Given the description of an element on the screen output the (x, y) to click on. 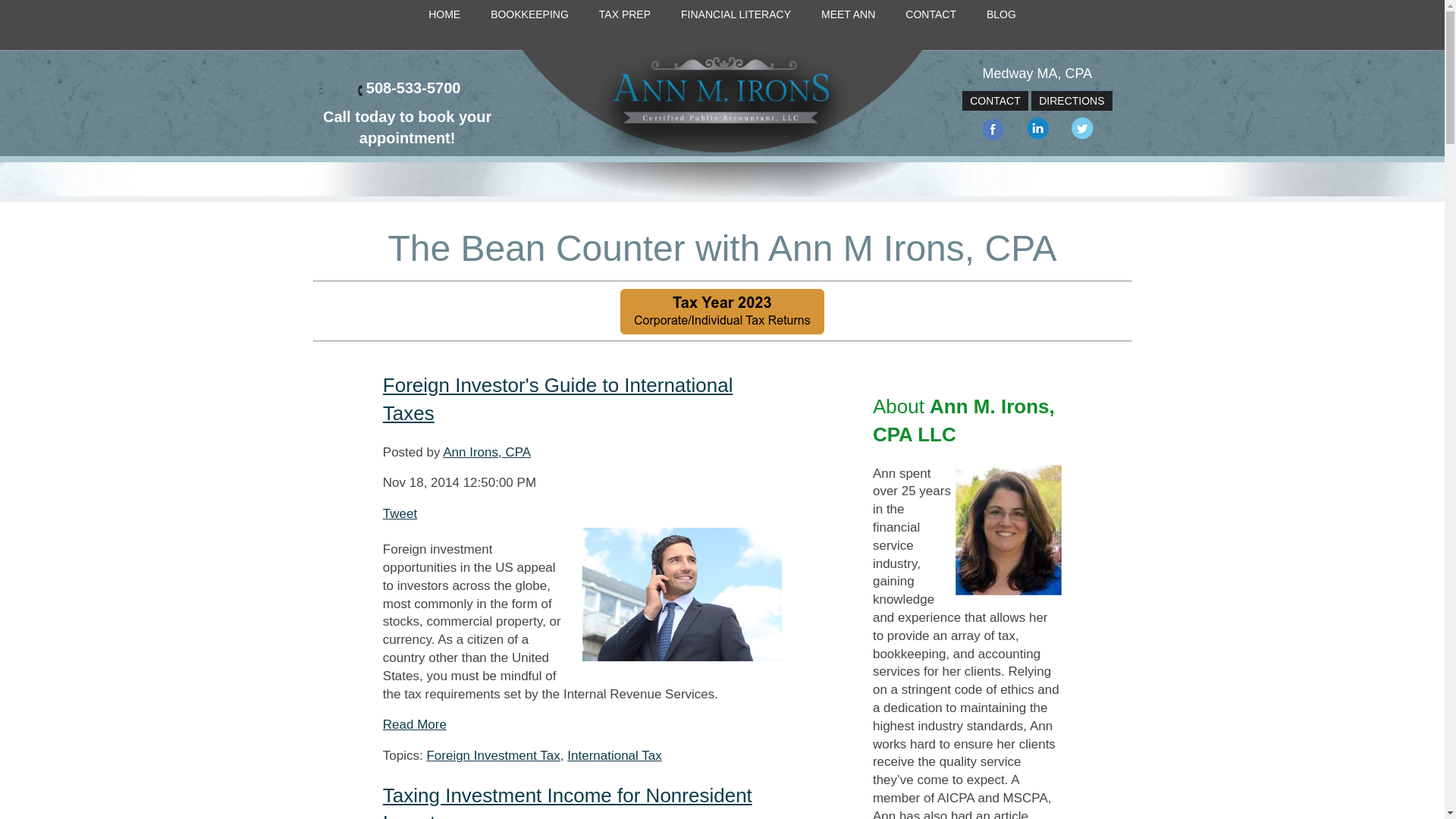
Foreign Investment Tax (492, 755)
BLOG (1000, 15)
FINANCIAL LITERACY (735, 15)
Tweet (399, 513)
CONTACT (994, 100)
HOME (444, 15)
DIRECTIONS (1071, 100)
Ann M. Irons (721, 102)
MEET ANN (847, 15)
BOOKKEEPING (529, 15)
Ann Irons, CPA (486, 452)
TAX PREP (624, 15)
CONTACT (930, 15)
International Tax (614, 755)
Foreign Investor's Guide to International Taxes (557, 398)
